Given the description of an element on the screen output the (x, y) to click on. 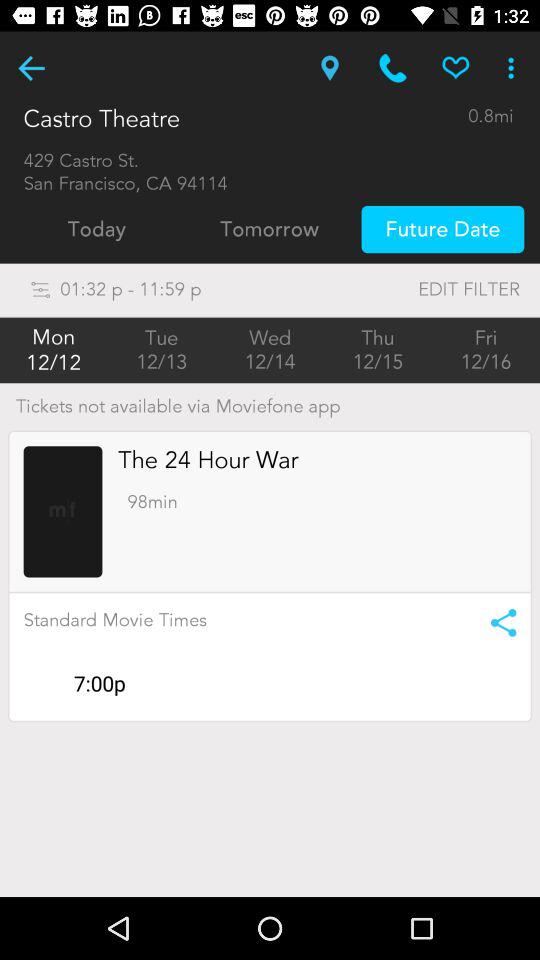
launch the icon below tickets not available icon (62, 511)
